Given the description of an element on the screen output the (x, y) to click on. 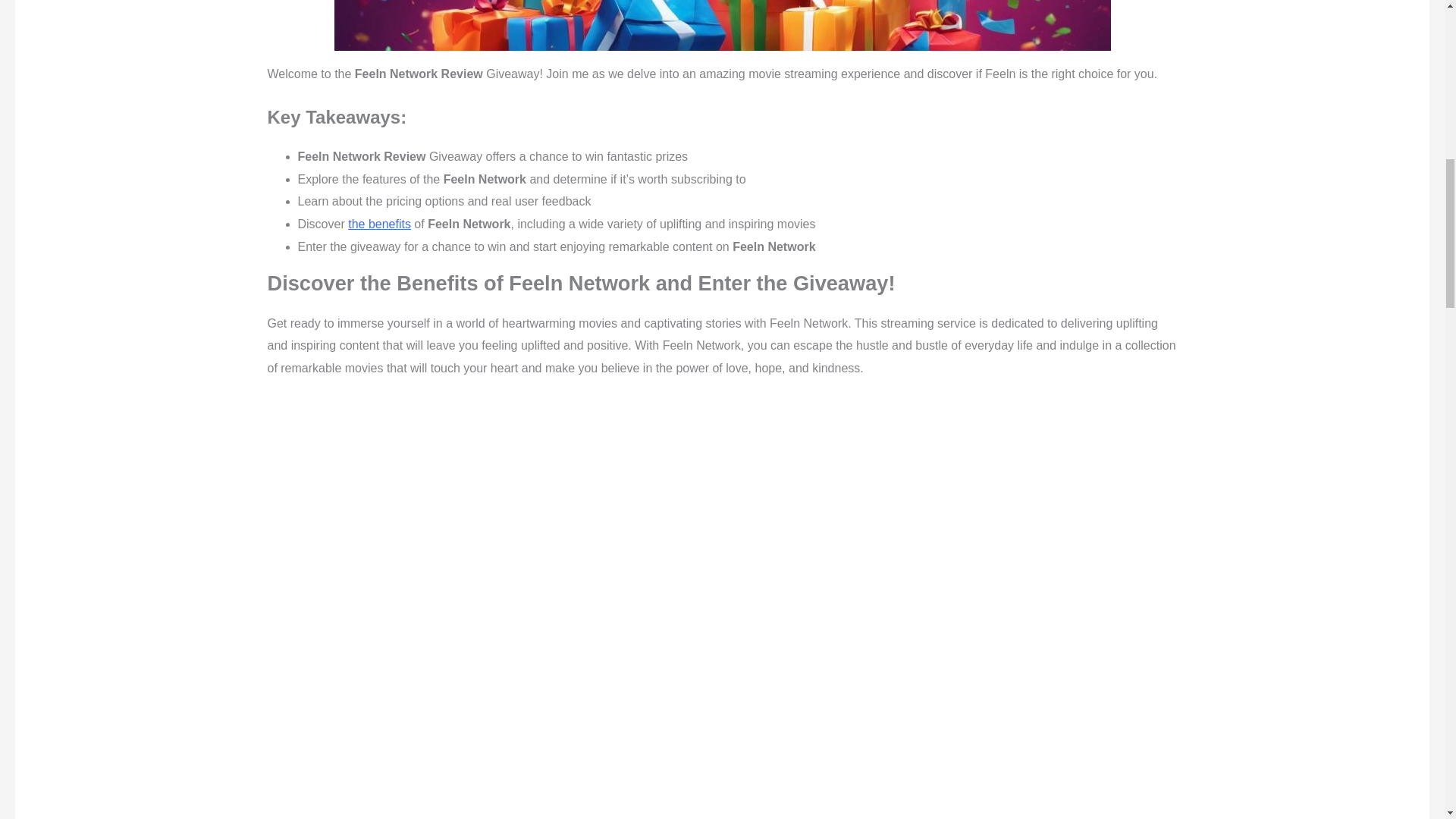
the benefits (378, 223)
